Given the description of an element on the screen output the (x, y) to click on. 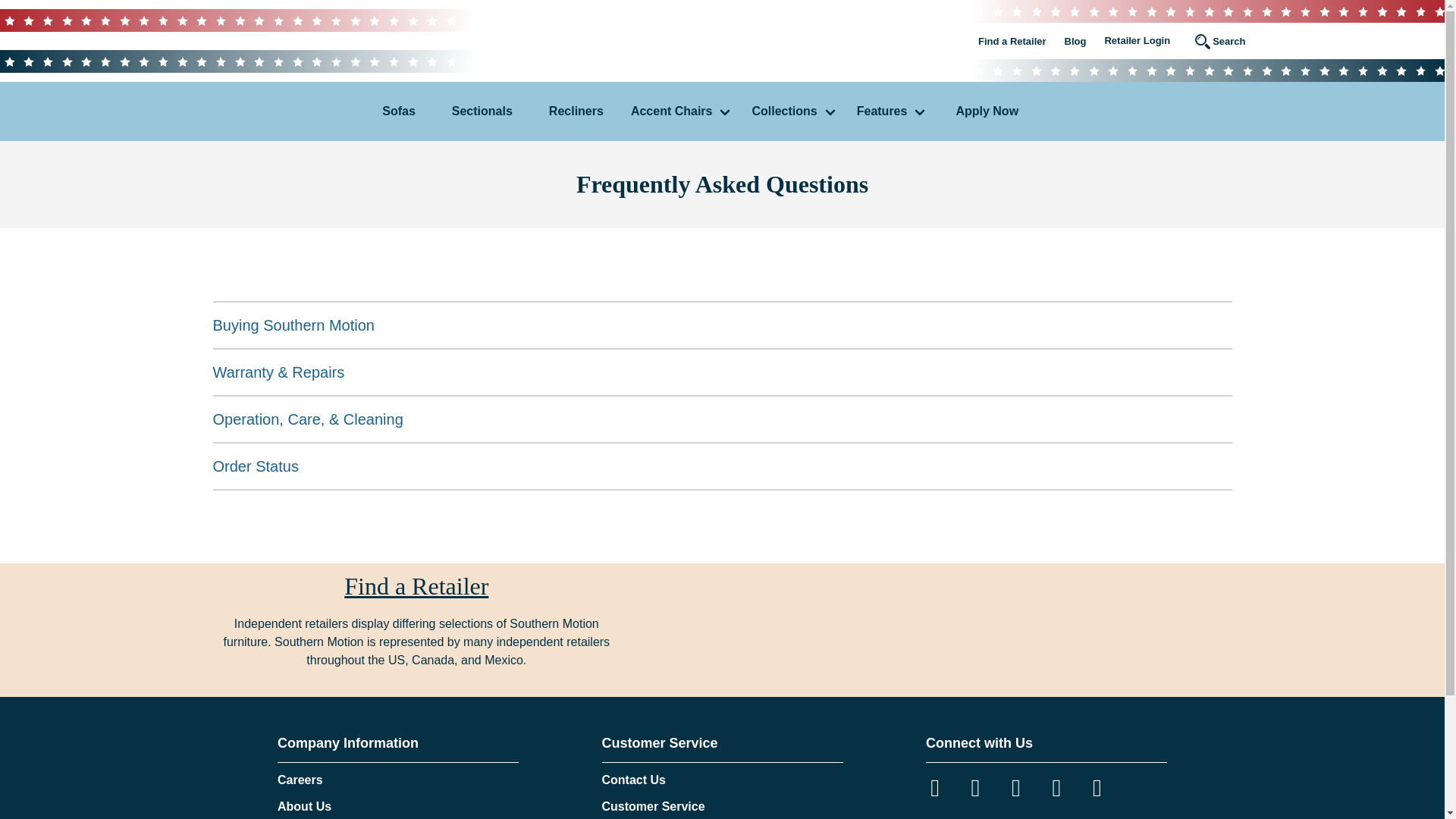
Collections (794, 110)
Retailer Login (1136, 40)
Find a Retailer (1012, 41)
Apply Now (986, 111)
Sofas (398, 111)
Recliners (576, 111)
Features (892, 110)
Sectionals (481, 111)
Blog (1075, 41)
Accent Chairs (681, 110)
